Given the description of an element on the screen output the (x, y) to click on. 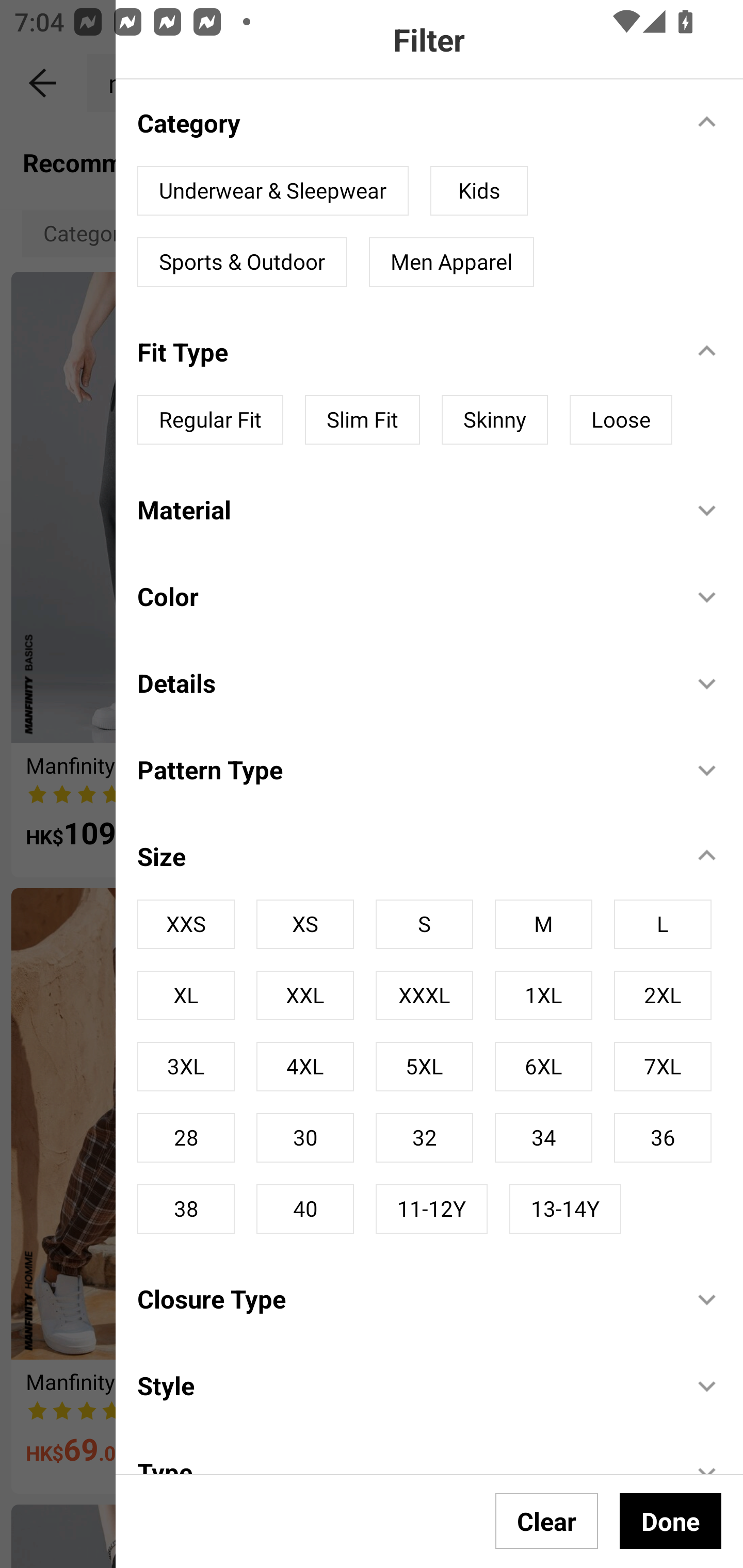
Category (403, 122)
Underwear & Sleepwear (272, 191)
Kids (478, 191)
Sports & Outdoor (241, 261)
Men Apparel (451, 261)
Fit Type (403, 351)
Regular Fit (210, 420)
Slim Fit (361, 420)
Skinny (494, 420)
Loose (620, 420)
Material (403, 509)
Color (403, 595)
Details (403, 682)
Pattern Type (403, 769)
Size (403, 856)
XXS (185, 924)
XS (304, 924)
S (424, 924)
M (543, 924)
L (662, 924)
XL (185, 995)
XXL (304, 995)
XXXL (424, 995)
1XL (543, 995)
2XL (662, 995)
3XL (185, 1066)
4XL (304, 1066)
5XL (424, 1066)
6XL (543, 1066)
7XL (662, 1066)
28 (185, 1137)
30 (304, 1137)
32 (424, 1137)
34 (543, 1137)
36 (662, 1137)
38 (185, 1208)
40 (304, 1208)
11-12Y (431, 1208)
13-14Y (564, 1208)
Closure Type (403, 1298)
Style (403, 1385)
